Given the description of an element on the screen output the (x, y) to click on. 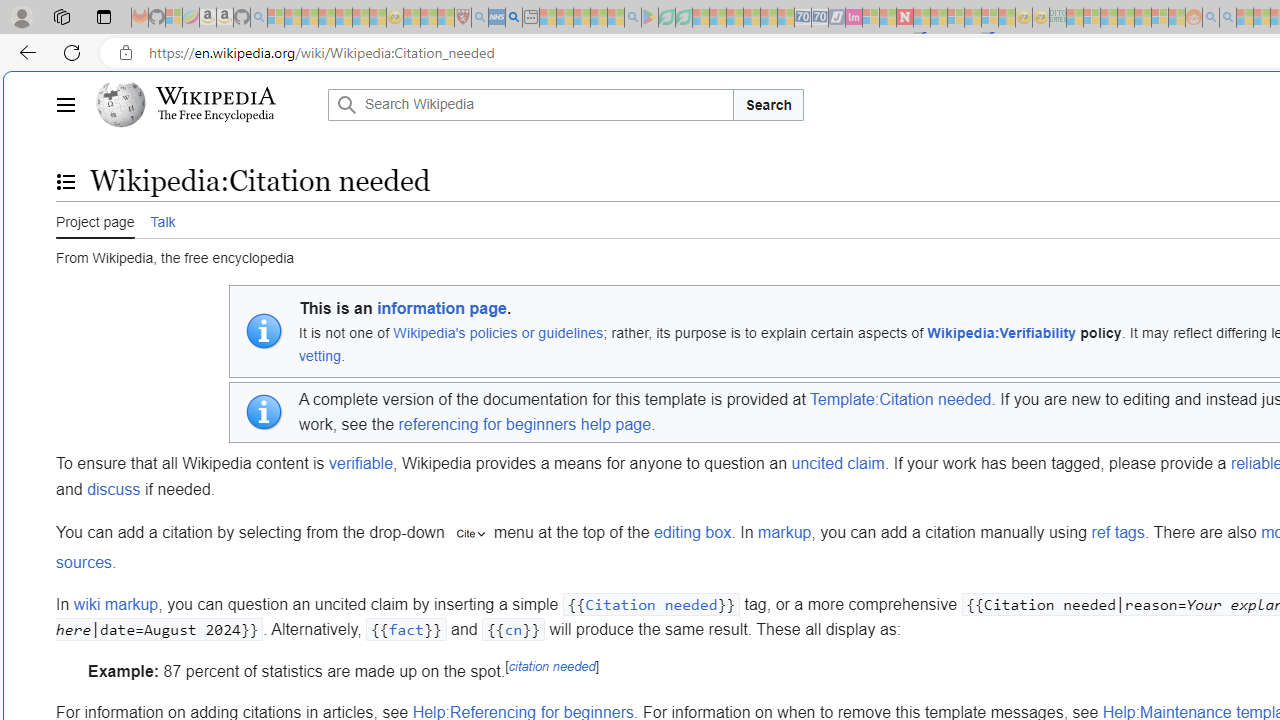
Project page (95, 219)
Project page (95, 219)
citation needed (552, 665)
editing box (693, 533)
discuss (113, 489)
